Given the description of an element on the screen output the (x, y) to click on. 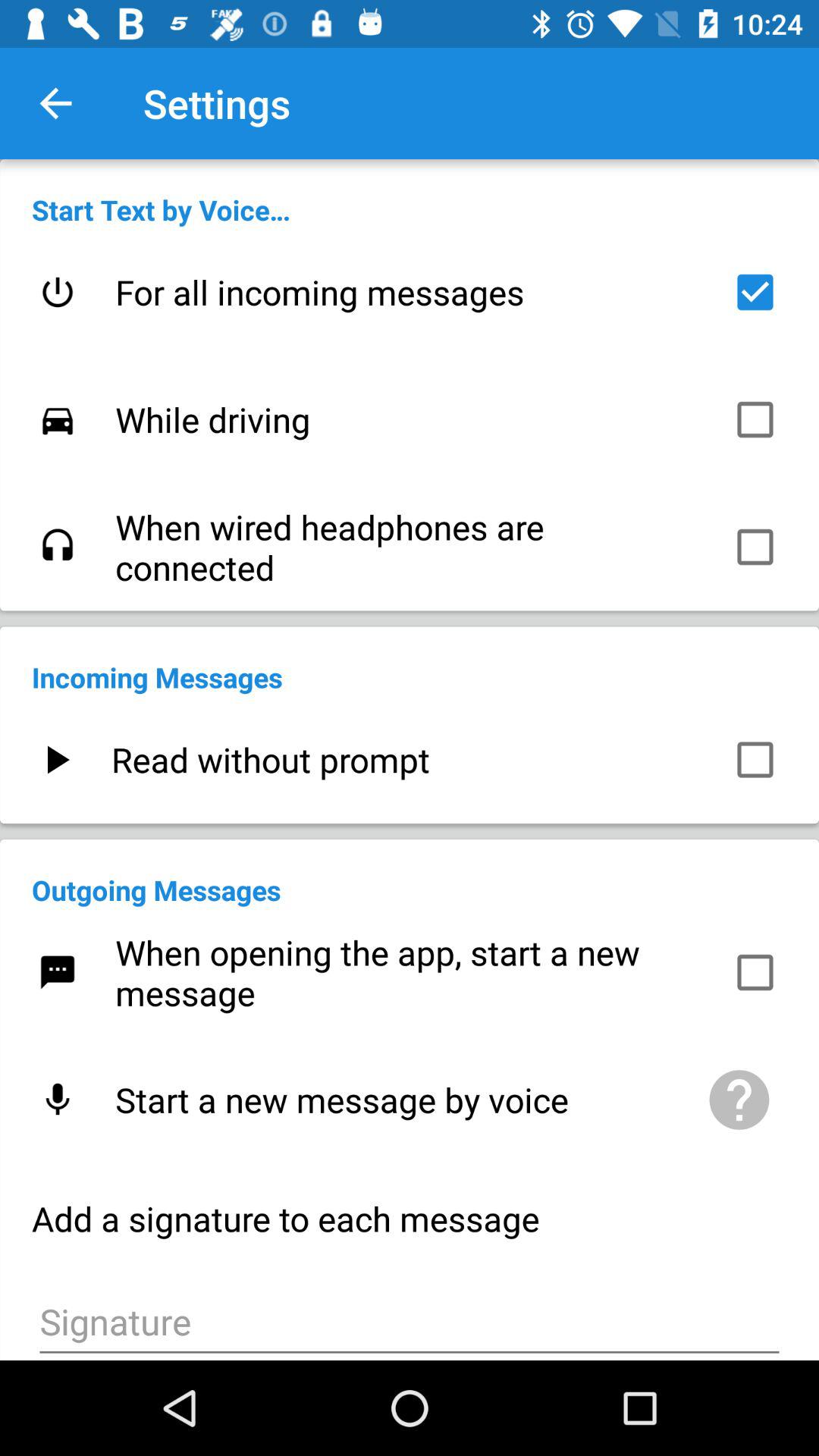
launch item to the right of when wired headphones item (755, 546)
